Given the description of an element on the screen output the (x, y) to click on. 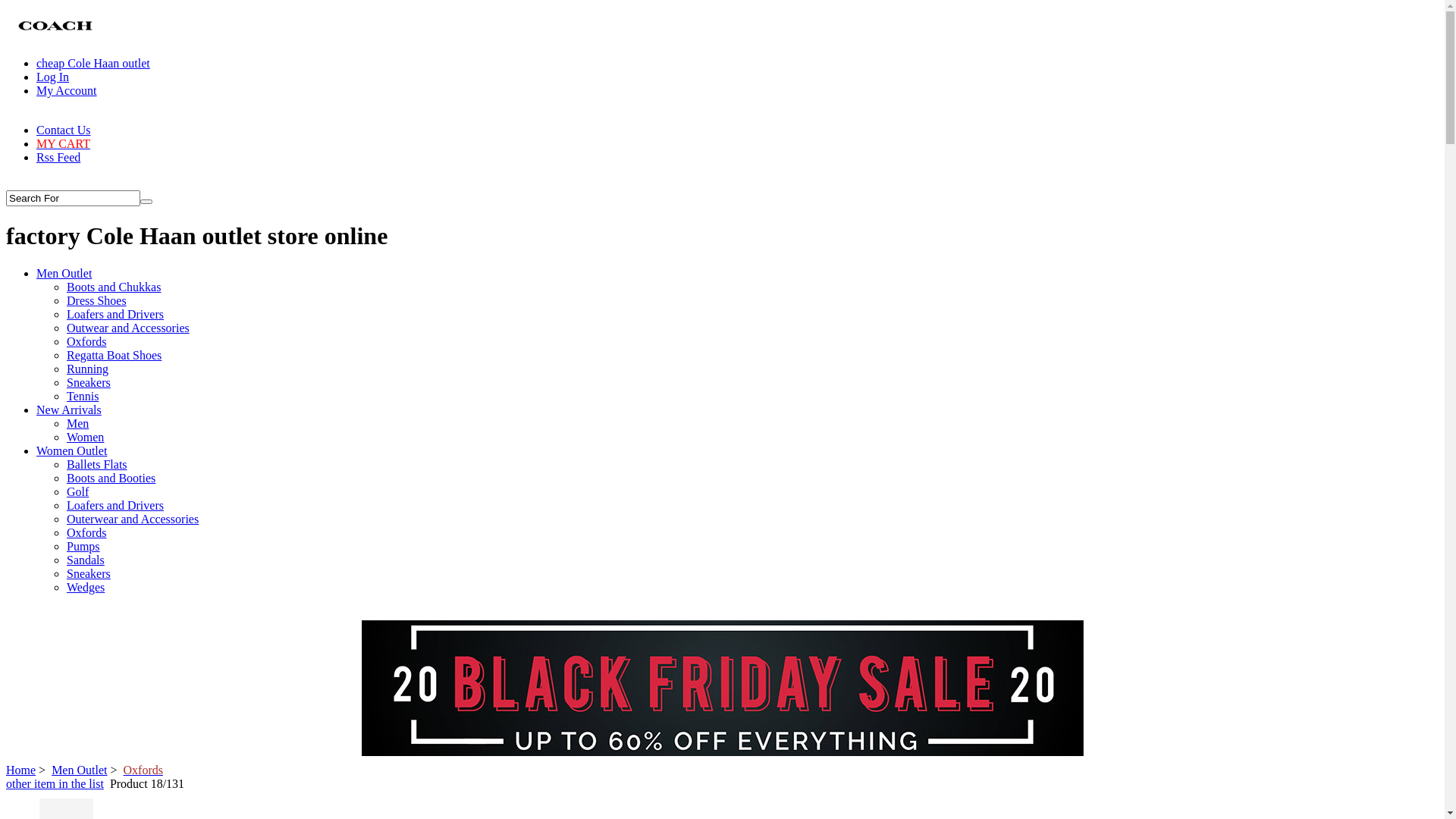
Women Outlet Element type: text (71, 450)
Sneakers Element type: text (88, 382)
Regatta Boat Shoes Element type: text (113, 354)
Wedges Element type: text (85, 586)
other item in the list Element type: text (54, 783)
Tennis Element type: text (82, 395)
Log In Element type: text (52, 76)
Oxfords Element type: text (142, 769)
Rss Feed Element type: text (58, 156)
Pumps Element type: text (83, 545)
Outwear and Accessories Element type: text (127, 327)
black friday coach Element type: hover (721, 751)
Golf Element type: text (77, 491)
Loafers and Drivers Element type: text (114, 504)
Oxfords Element type: text (86, 532)
Dress Shoes Element type: text (96, 300)
Boots and Chukkas Element type: text (113, 286)
MY CART Element type: text (63, 143)
Sandals Element type: text (85, 559)
Oxfords Element type: text (86, 341)
Men Element type: text (77, 423)
Men Outlet Element type: text (78, 769)
My Account Element type: text (66, 90)
Ballets Flats Element type: text (96, 464)
 Cole Haan outlet  Element type: hover (55, 25)
Home Element type: text (20, 769)
Sneakers Element type: text (88, 573)
cheap Cole Haan outlet Element type: text (93, 62)
Running Element type: text (87, 368)
Women Element type: text (84, 436)
New Arrivals Element type: text (68, 409)
GO Element type: text (146, 201)
Outerwear and Accessories Element type: text (132, 518)
Loafers and Drivers Element type: text (114, 313)
Contact Us Element type: text (63, 129)
Boots and Booties Element type: text (110, 477)
Men Outlet Element type: text (63, 272)
